Given the description of an element on the screen output the (x, y) to click on. 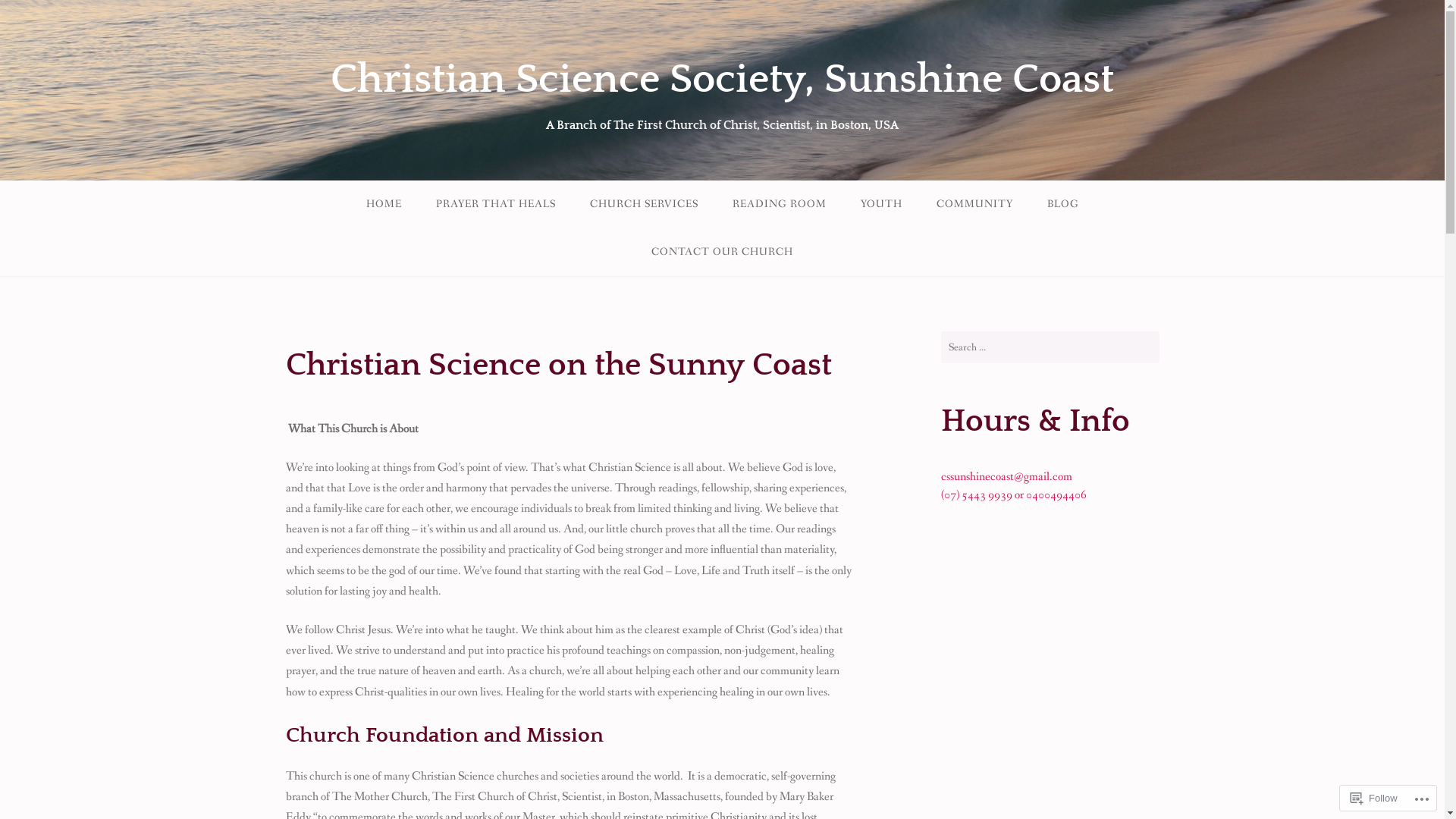
Follow Element type: text (1373, 797)
(07) 5443 9939 or 0400494406 Element type: text (1012, 494)
PRAYER THAT HEALS Element type: text (495, 204)
CONTACT OUR CHURCH Element type: text (722, 252)
HOME Element type: text (383, 204)
cssunshinecoast@gmail.com Element type: text (1005, 476)
COMMUNITY Element type: text (974, 204)
READING ROOM Element type: text (778, 204)
Search Element type: text (27, 15)
YOUTH Element type: text (881, 204)
Christian Science Society, Sunshine Coast Element type: text (721, 79)
CHURCH SERVICES Element type: text (643, 204)
BLOG Element type: text (1063, 204)
